Given the description of an element on the screen output the (x, y) to click on. 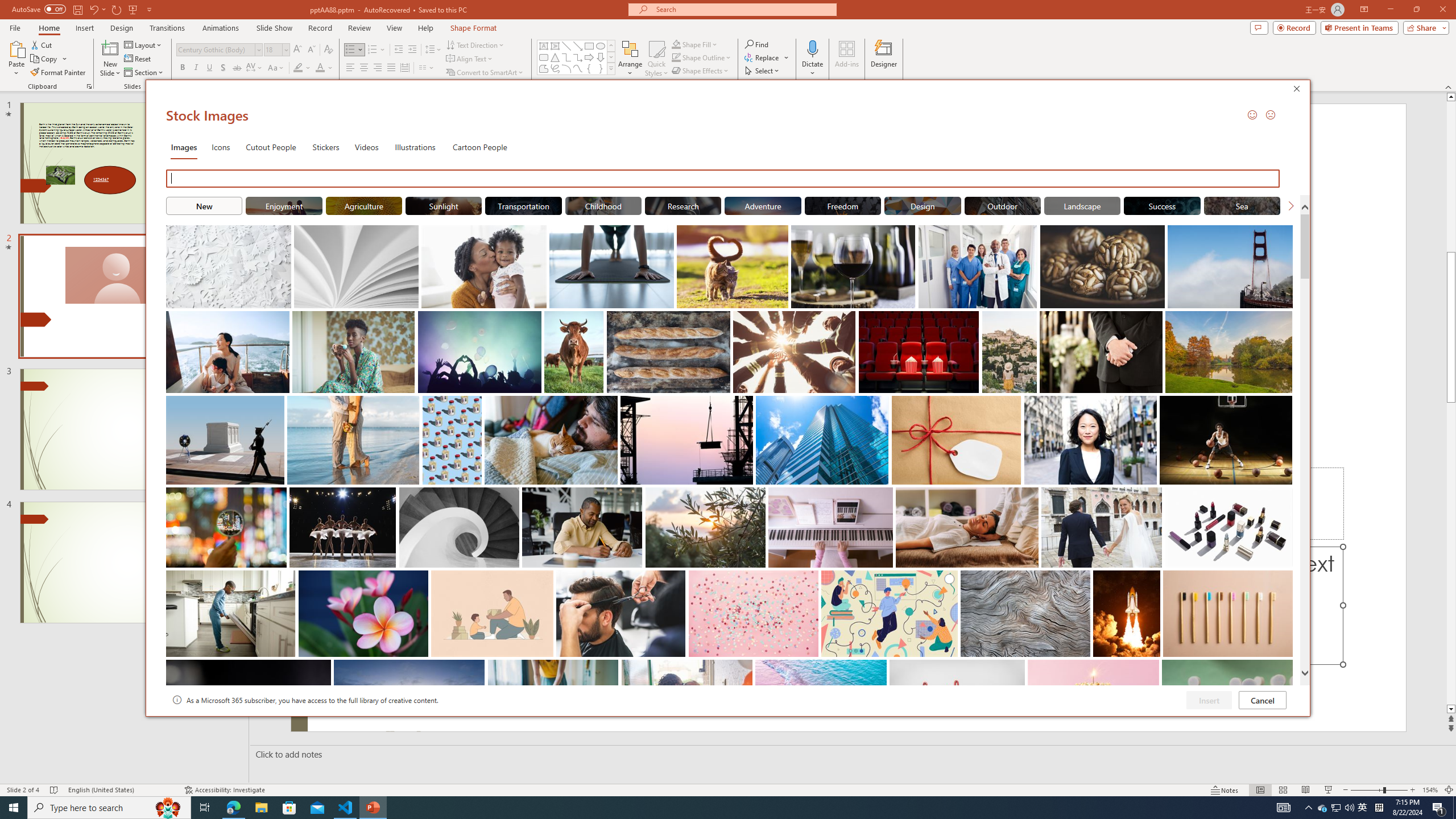
Cutout People (271, 146)
Send a Smile (1251, 114)
